Given the description of an element on the screen output the (x, y) to click on. 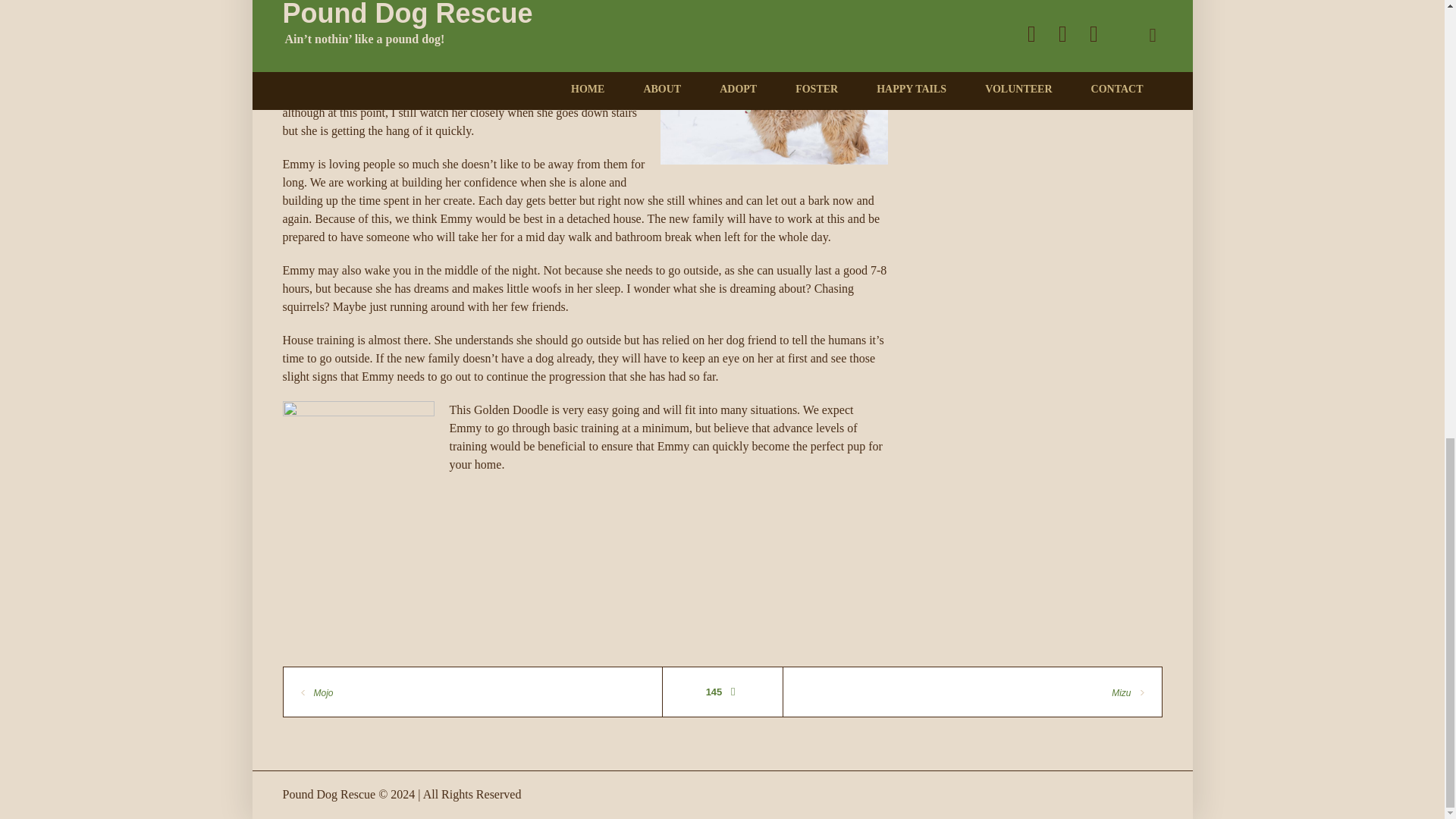
Mojo (315, 693)
Mizu (1128, 693)
Twitter (1027, 30)
Pinterest (1096, 30)
145 (722, 691)
Facebook (958, 30)
